Given the description of an element on the screen output the (x, y) to click on. 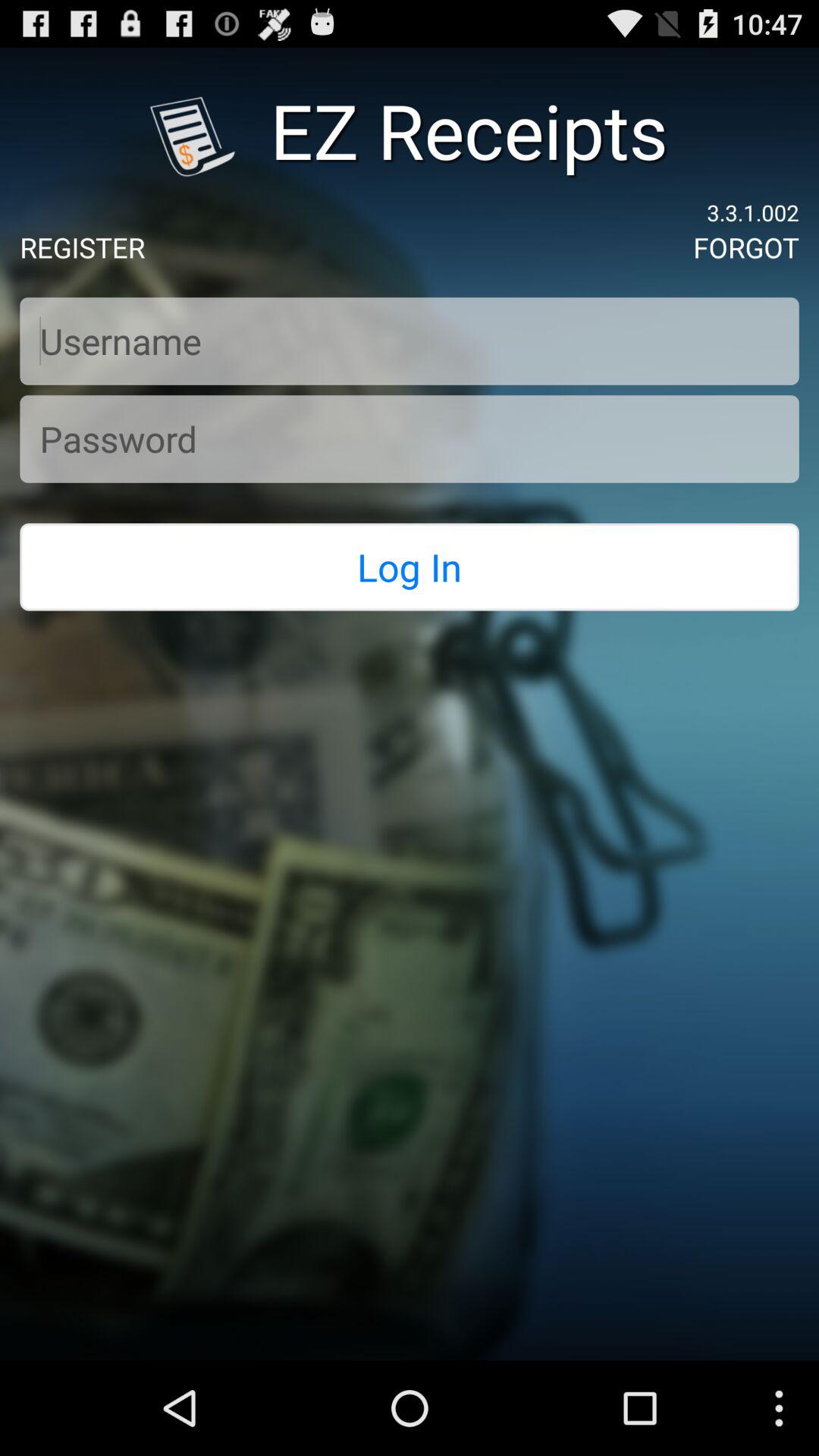
turn on item next to the register icon (746, 247)
